Given the description of an element on the screen output the (x, y) to click on. 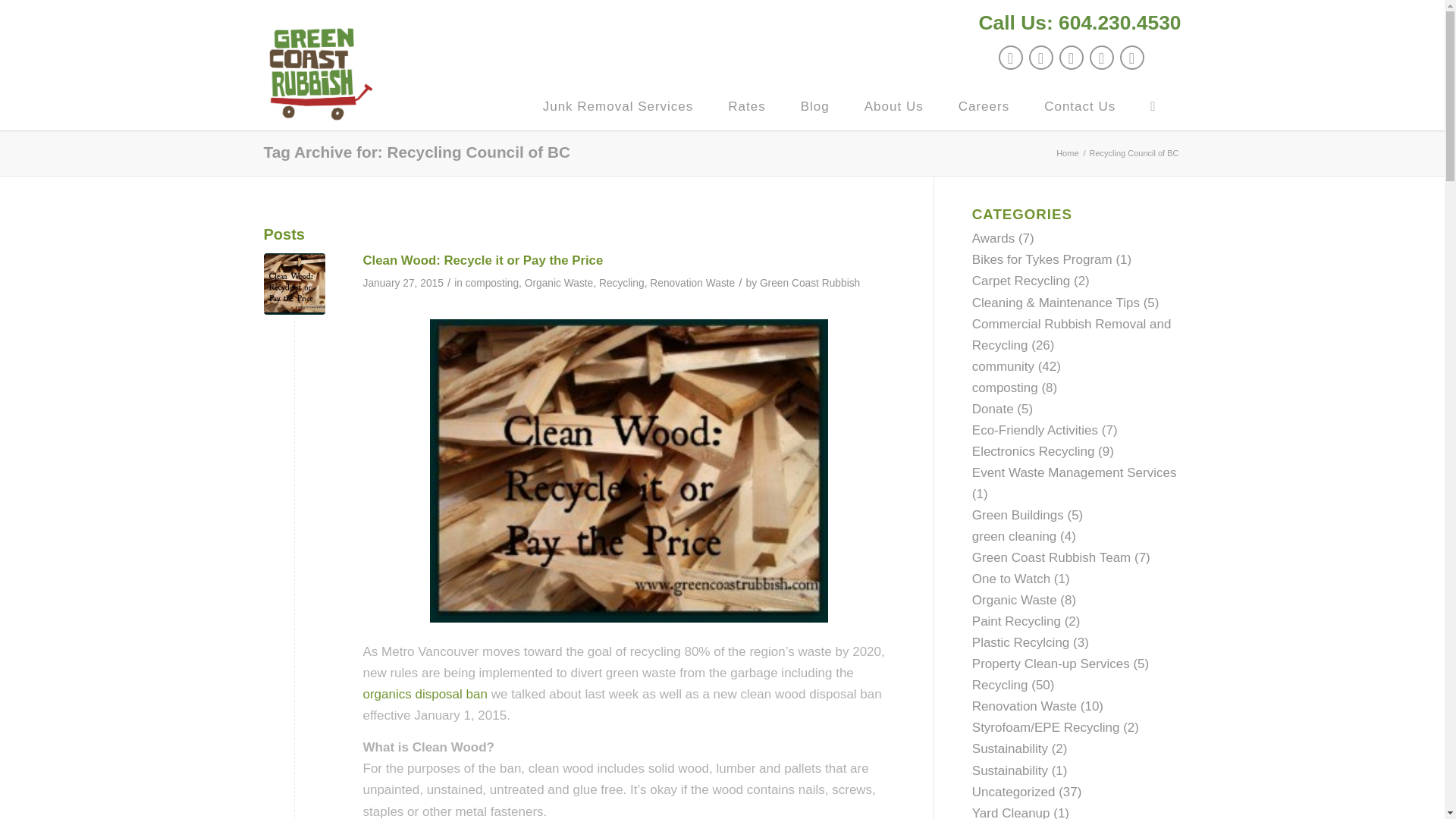
Organic Waste (559, 283)
Green Coast Rubbish (810, 283)
Tag Archive for: Recycling Council of BC (416, 151)
Instagram (1101, 57)
Posts by Green Coast Rubbish (810, 283)
Permanent Link: Tag Archive for: Recycling Council of BC (416, 151)
Call Us: 604.230.4530 (1079, 22)
Clean Wood: Recycle it or Pay the Price (482, 260)
Junk Removal Services (617, 106)
Twitter (1009, 57)
